Given the description of an element on the screen output the (x, y) to click on. 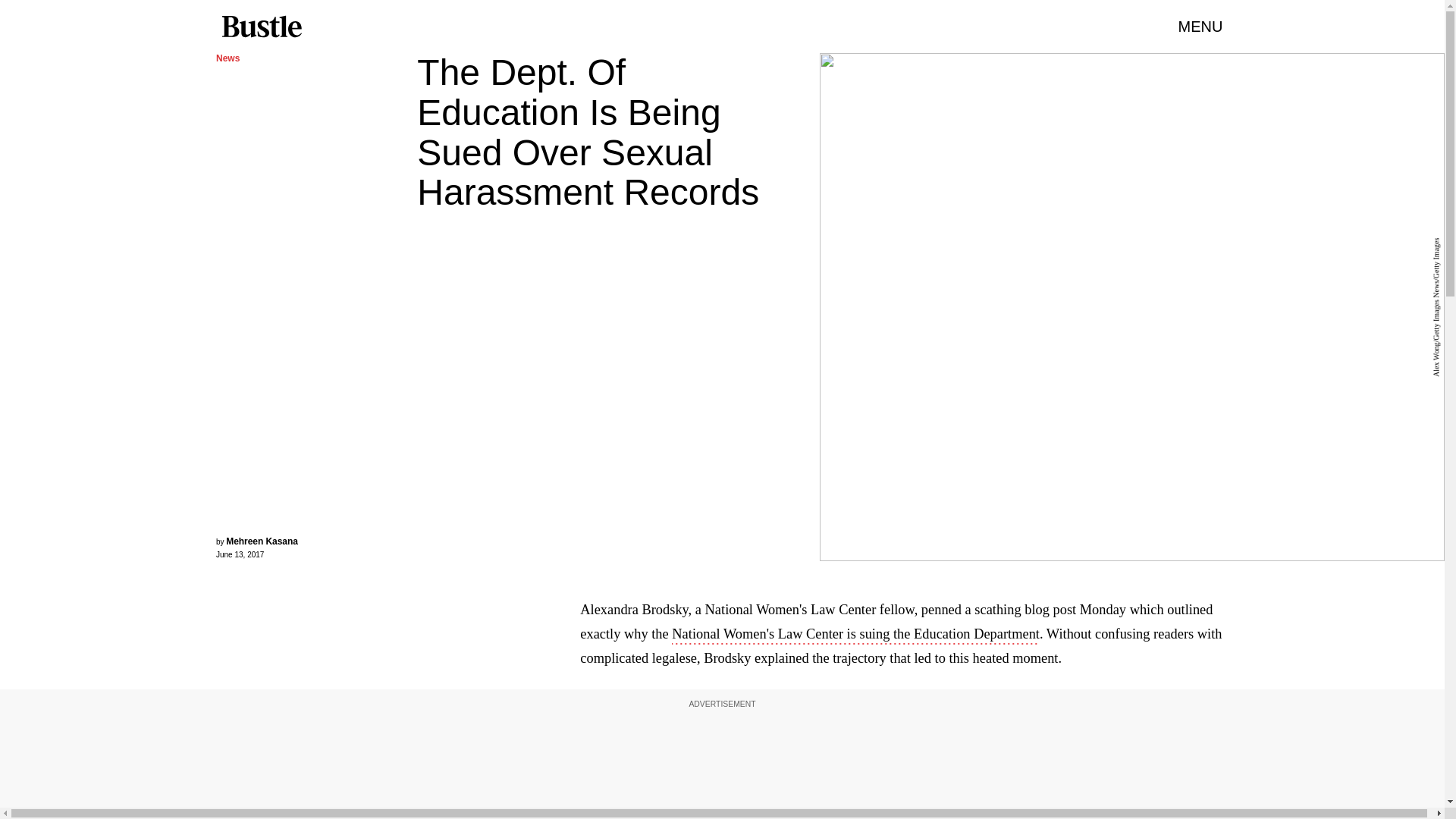
Mehreen Kasana (261, 541)
Bustle (261, 26)
